Given the description of an element on the screen output the (x, y) to click on. 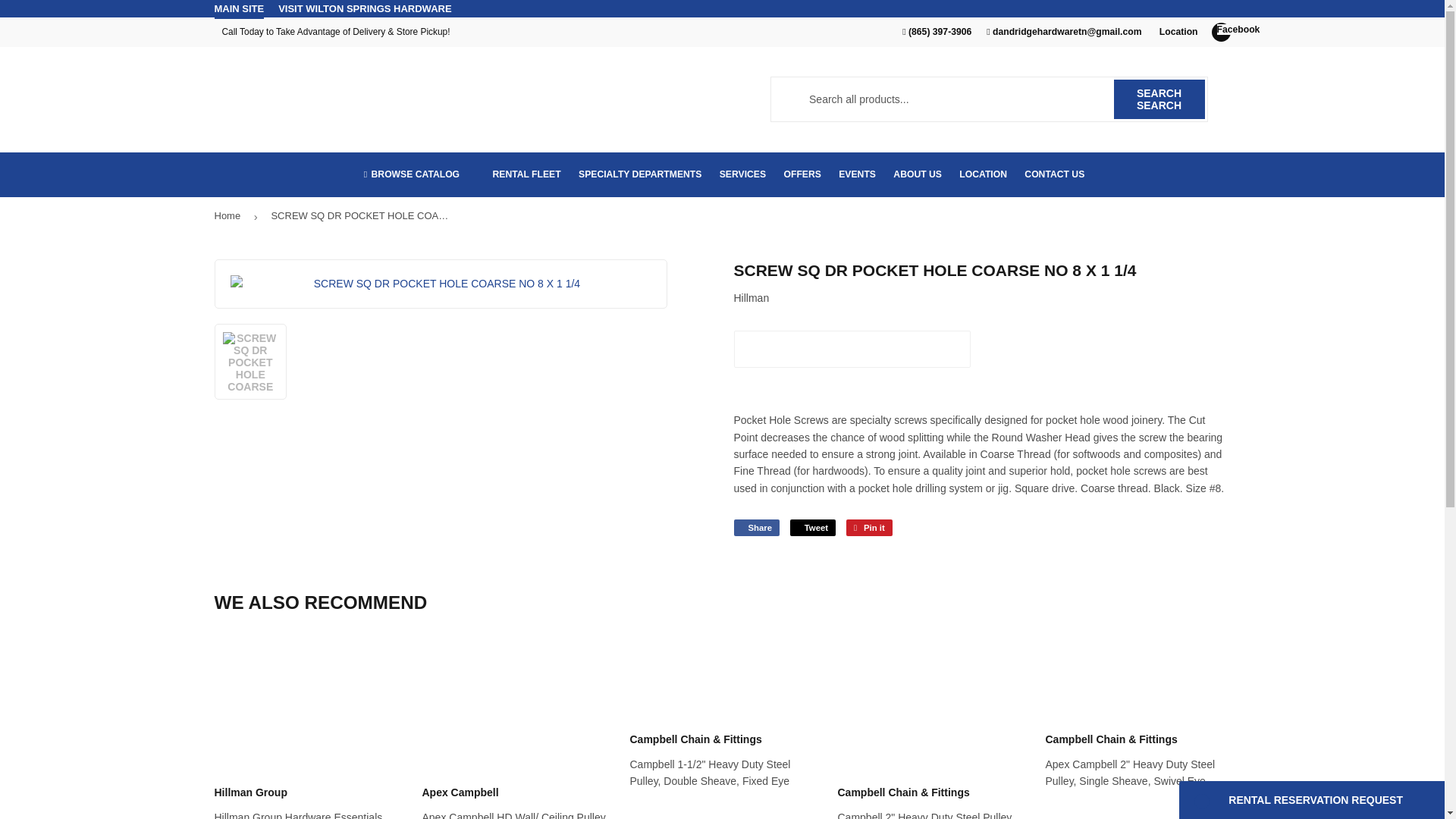
Open Product Zoom (441, 283)
 Location (1176, 31)
Main Site (238, 9)
Pin on Pinterest (868, 527)
VISIT WILTON SPRINGS HARDWARE (364, 8)
Visit Wilton Springs Hardware (364, 8)
Facebook (1220, 31)
SEARCH SEARCH (1158, 98)
MAIN SITE (238, 9)
Tweet on Twitter (812, 527)
